Given the description of an element on the screen output the (x, y) to click on. 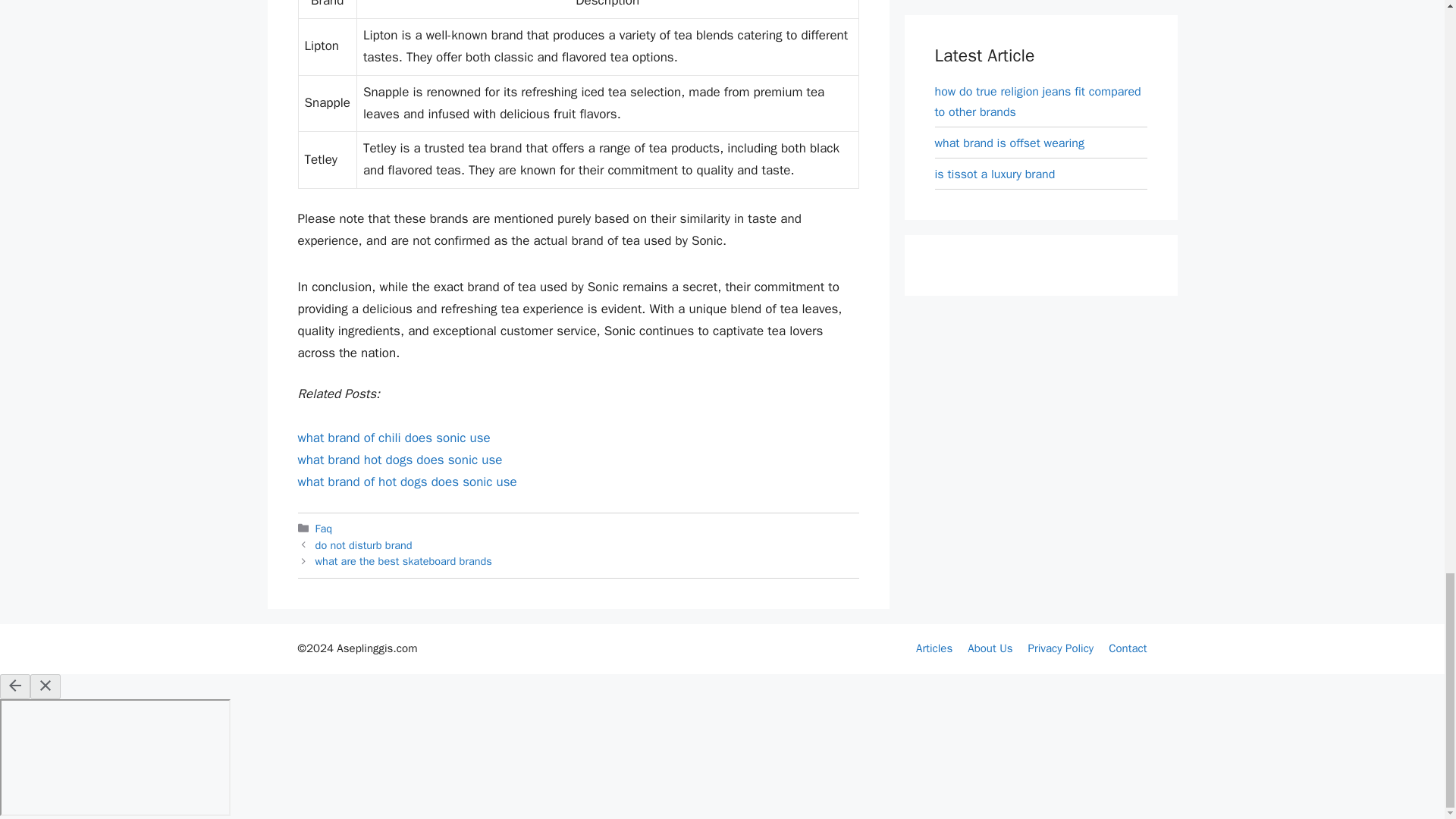
what are the best skateboard brands (403, 561)
what brand of hot dogs does sonic use (406, 481)
what brand of chili does sonic use (393, 437)
Contact (1127, 648)
About Us (989, 648)
what brand hot dogs does sonic use (399, 459)
Faq (324, 528)
do not disturb brand (363, 545)
Articles (933, 648)
Privacy Policy (1060, 648)
